Given the description of an element on the screen output the (x, y) to click on. 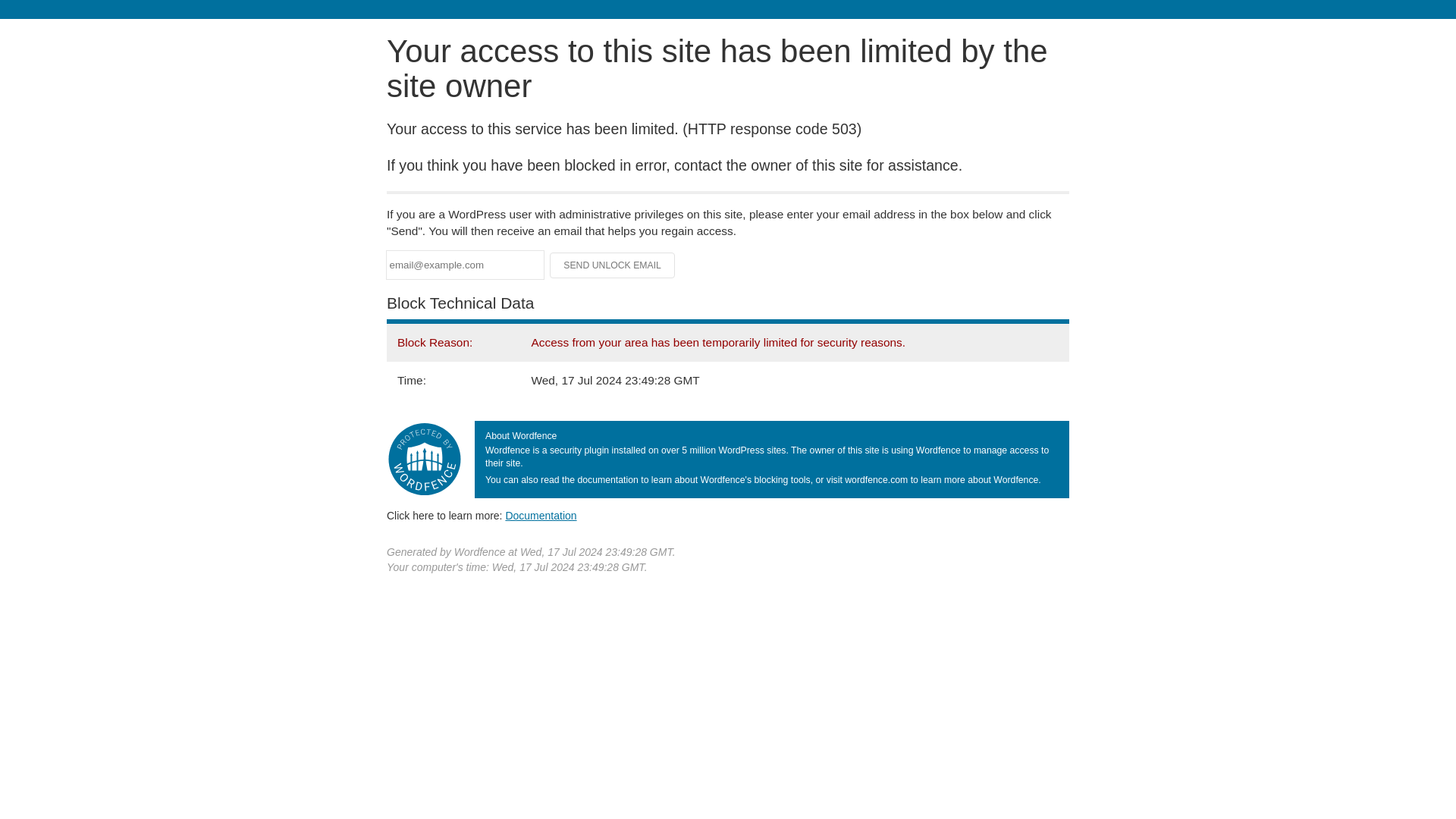
Send Unlock Email (612, 265)
Send Unlock Email (612, 265)
Documentation (540, 515)
